Given the description of an element on the screen output the (x, y) to click on. 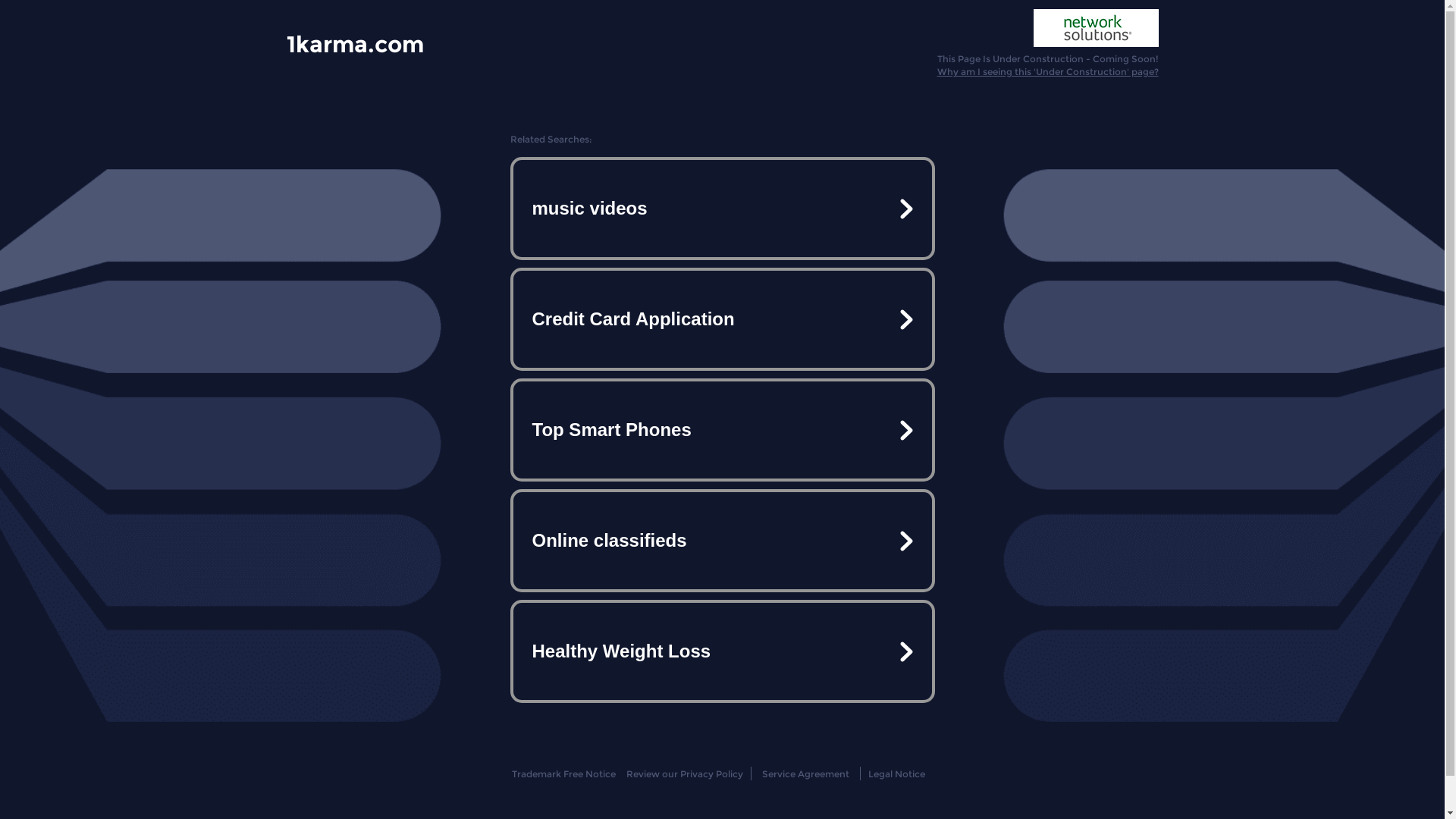
Review our Privacy Policy Element type: text (684, 773)
Why am I seeing this 'Under Construction' page? Element type: text (1047, 71)
Trademark Free Notice Element type: text (563, 773)
Online classifieds Element type: text (721, 540)
1karma.com Element type: text (354, 43)
Top Smart Phones Element type: text (721, 429)
Service Agreement Element type: text (805, 773)
Legal Notice Element type: text (896, 773)
music videos Element type: text (721, 208)
Credit Card Application Element type: text (721, 318)
Healthy Weight Loss Element type: text (721, 650)
